Given the description of an element on the screen output the (x, y) to click on. 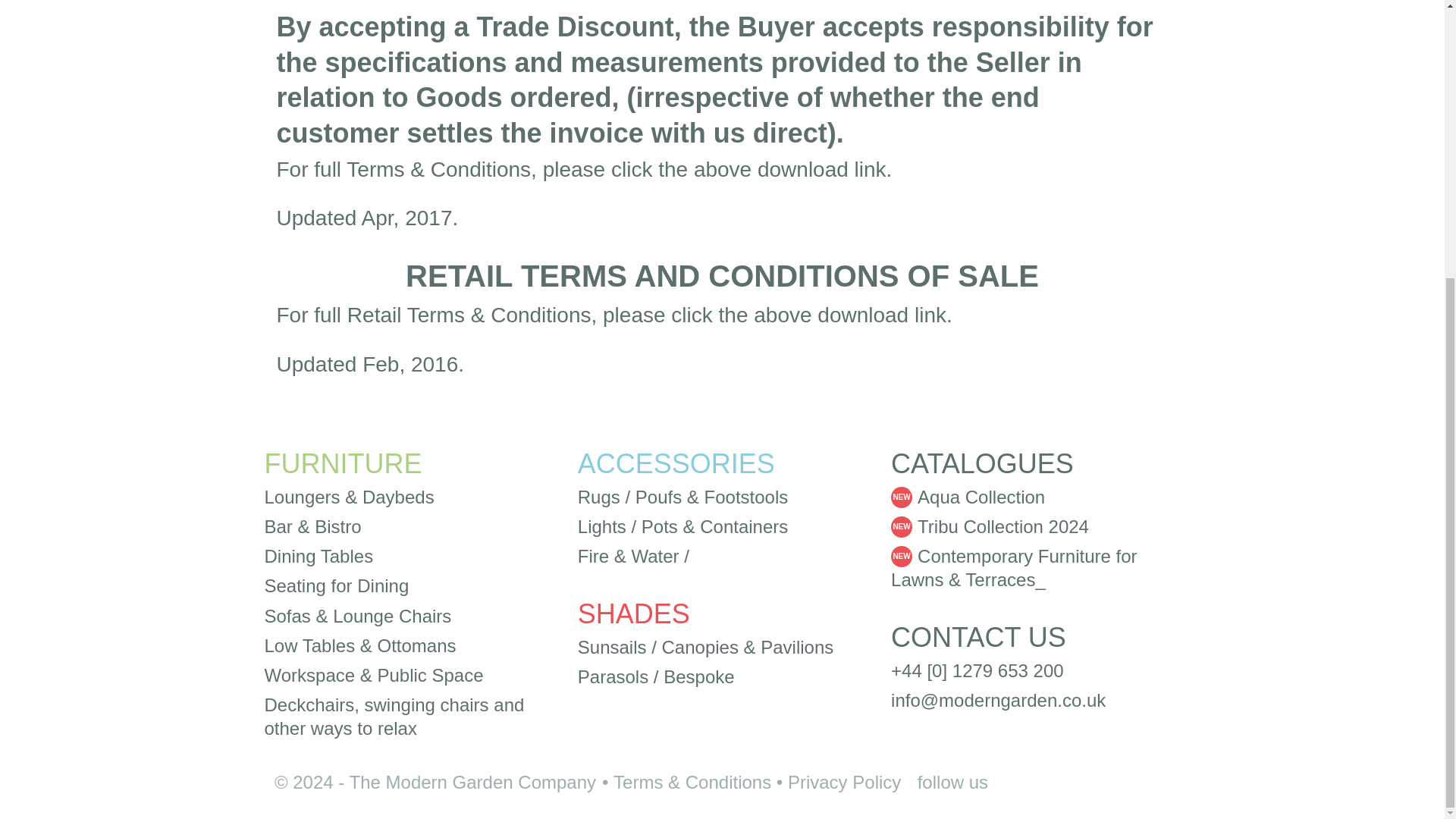
Lights (602, 526)
Seating for Dining (336, 585)
Deckchairs, swinging chairs and other ways to relax (393, 716)
FURNITURE (342, 463)
ACCESSORIES (676, 463)
Dining Tables (317, 556)
Rugs (599, 496)
